Given the description of an element on the screen output the (x, y) to click on. 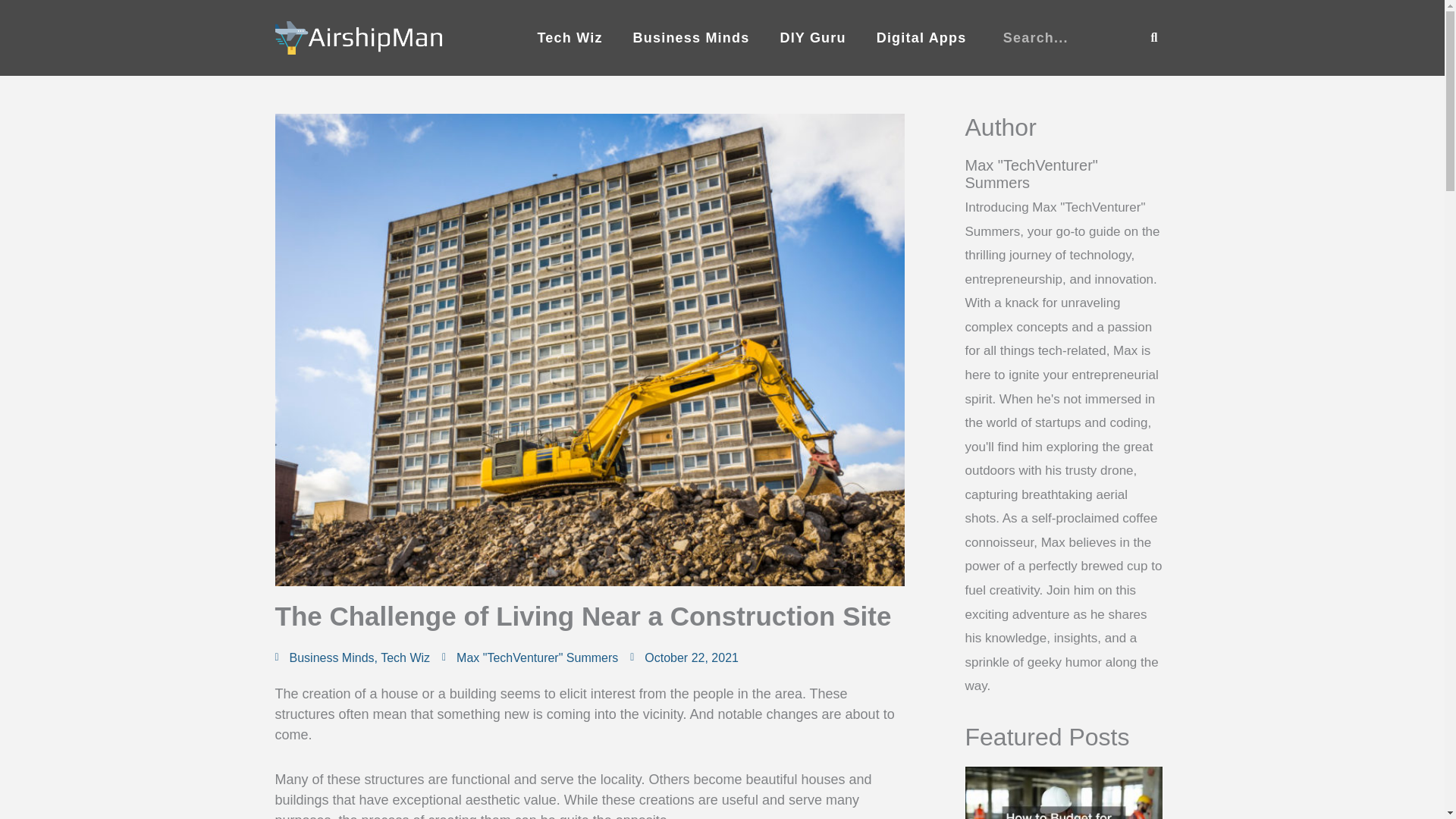
October 22, 2021 (684, 657)
Digital Apps (921, 37)
Tech Wiz (569, 37)
Business Minds (691, 37)
Tech Wiz (404, 656)
DIY Guru (812, 37)
Business Minds (331, 656)
Search (1153, 37)
